Given the description of an element on the screen output the (x, y) to click on. 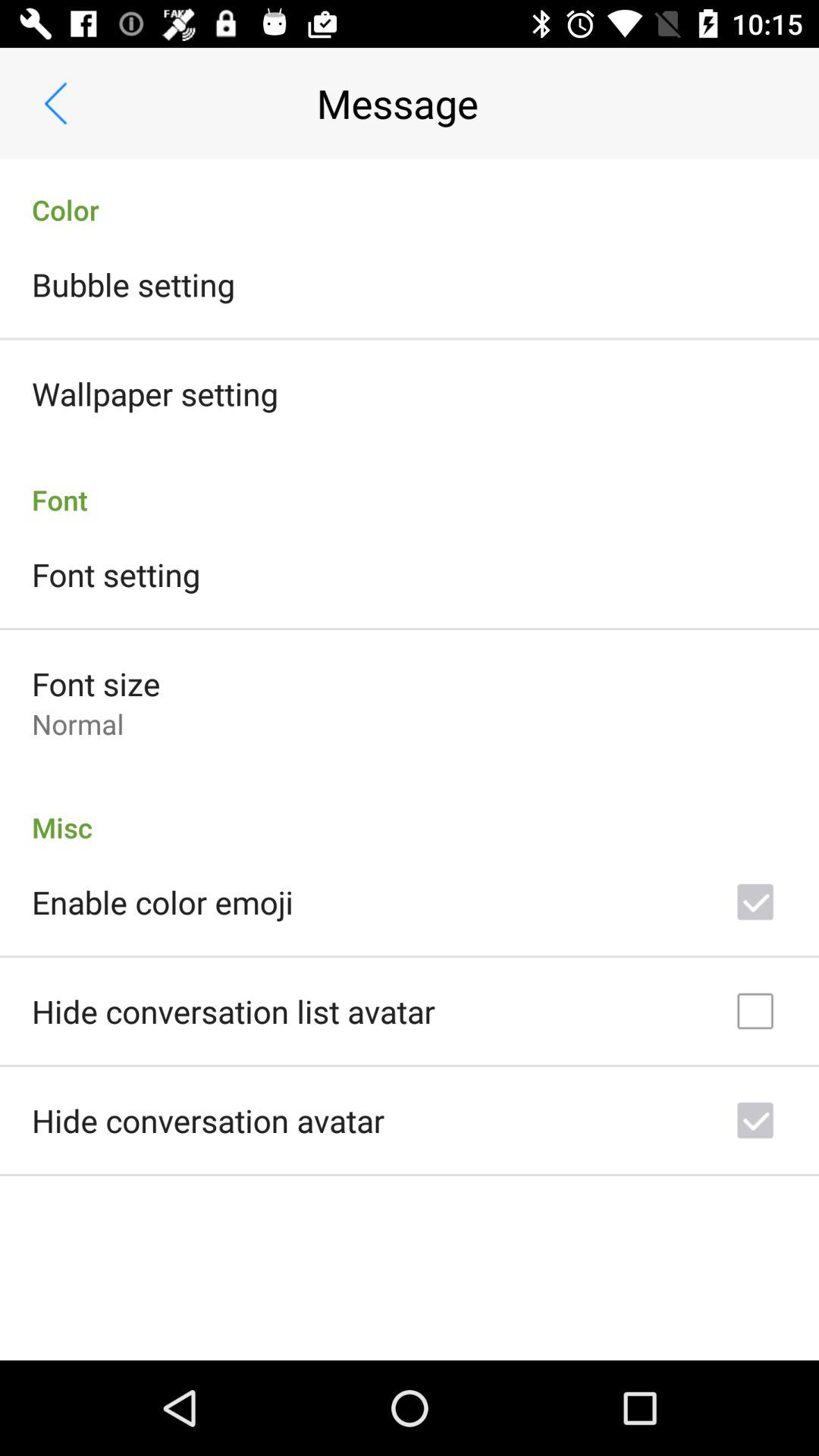
open the font size icon (95, 683)
